Given the description of an element on the screen output the (x, y) to click on. 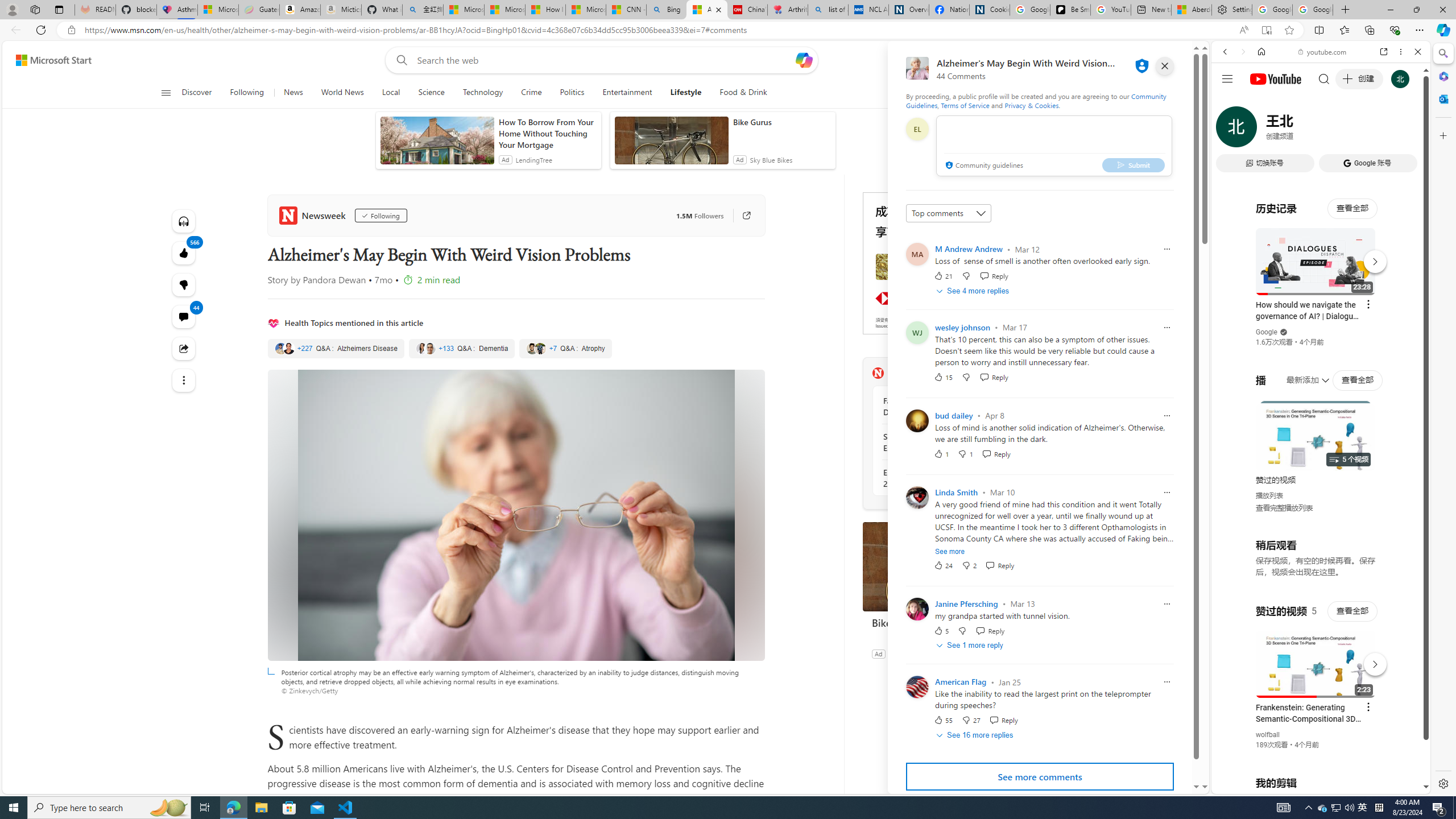
Politics (572, 92)
Read aloud this page (Ctrl+Shift+U) (1243, 29)
App bar (728, 29)
Search Filter, Search Tools (1350, 129)
Class: b_serphb (1404, 130)
Settings and more (Alt+F) (1419, 29)
Technology (482, 92)
Fans React to Shocking Detail in Duggar Family Wedding Photo (944, 406)
Microsoft-Report a Concern to Bing (217, 9)
Home (1261, 51)
How I Got Rid of Microsoft Edge's Unnecessary Features (544, 9)
Class: at-item (183, 380)
24 Like (942, 564)
